Given the description of an element on the screen output the (x, y) to click on. 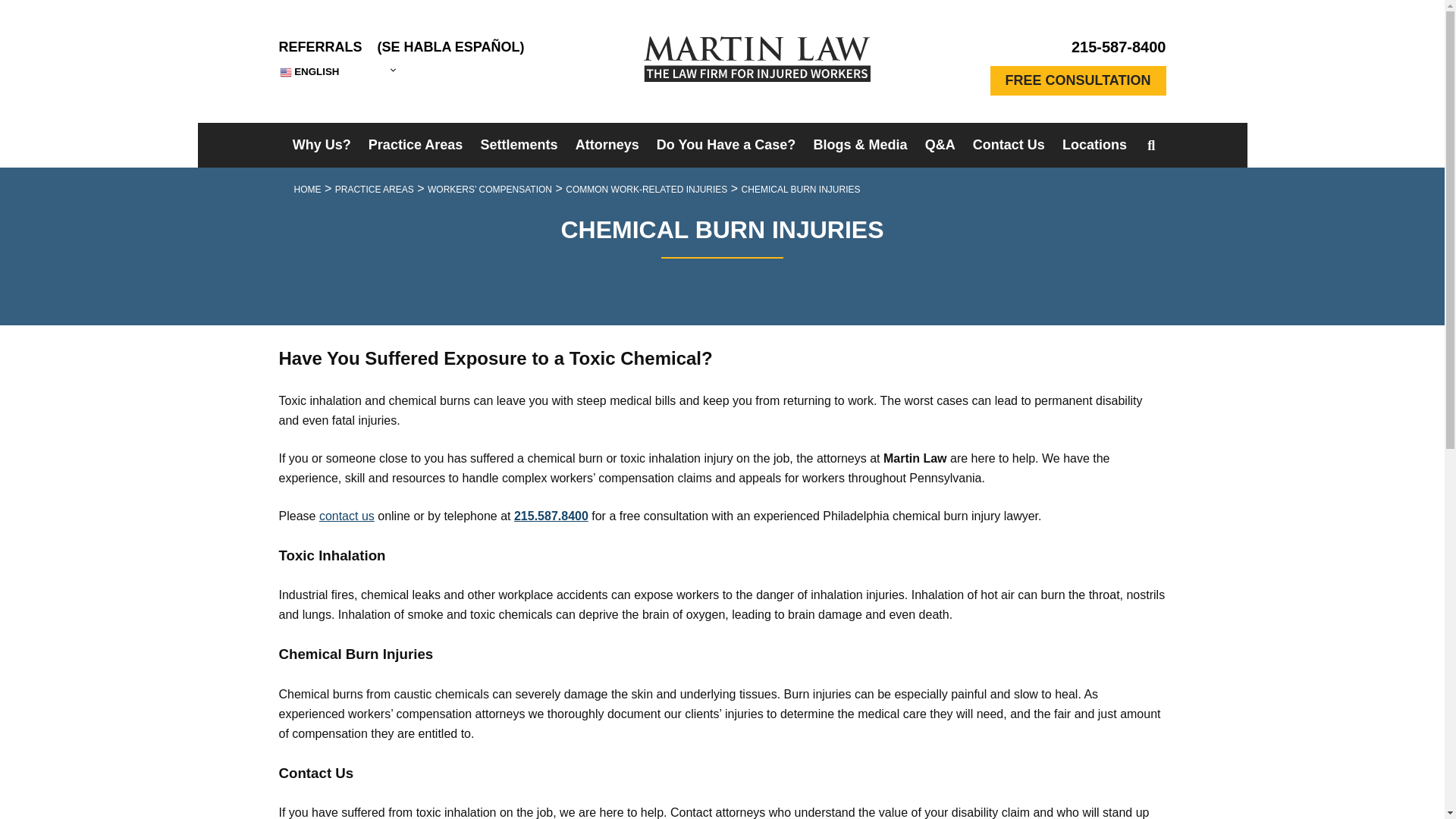
Why Us? (321, 145)
215-587-8400 (1078, 51)
Contact Us (1008, 145)
Do You Have a Case? (725, 145)
Settlements (518, 145)
Attorneys (607, 145)
FREE CONSULTATION (1078, 80)
Practice Areas (415, 145)
ENGLISH (336, 71)
Locations (1094, 145)
REFERRALS (320, 46)
